Given the description of an element on the screen output the (x, y) to click on. 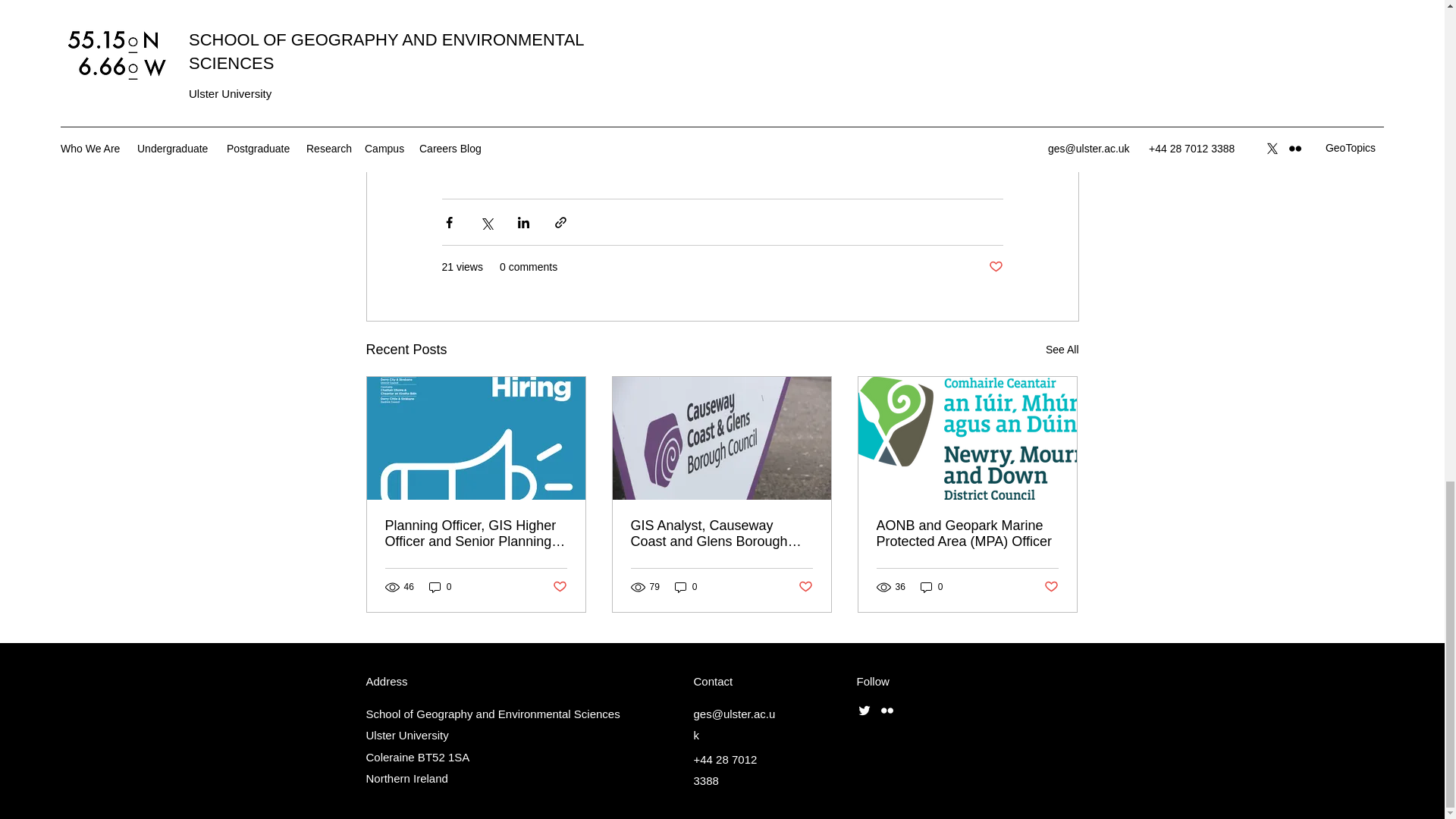
Post not marked as liked (1050, 587)
See All (1061, 350)
0 (440, 586)
Post not marked as liked (995, 267)
GIS Analyst, Causeway Coast and Glens Borough Council (721, 533)
0 (931, 586)
Post not marked as liked (804, 587)
0 (685, 586)
Post not marked as liked (558, 587)
